Given the description of an element on the screen output the (x, y) to click on. 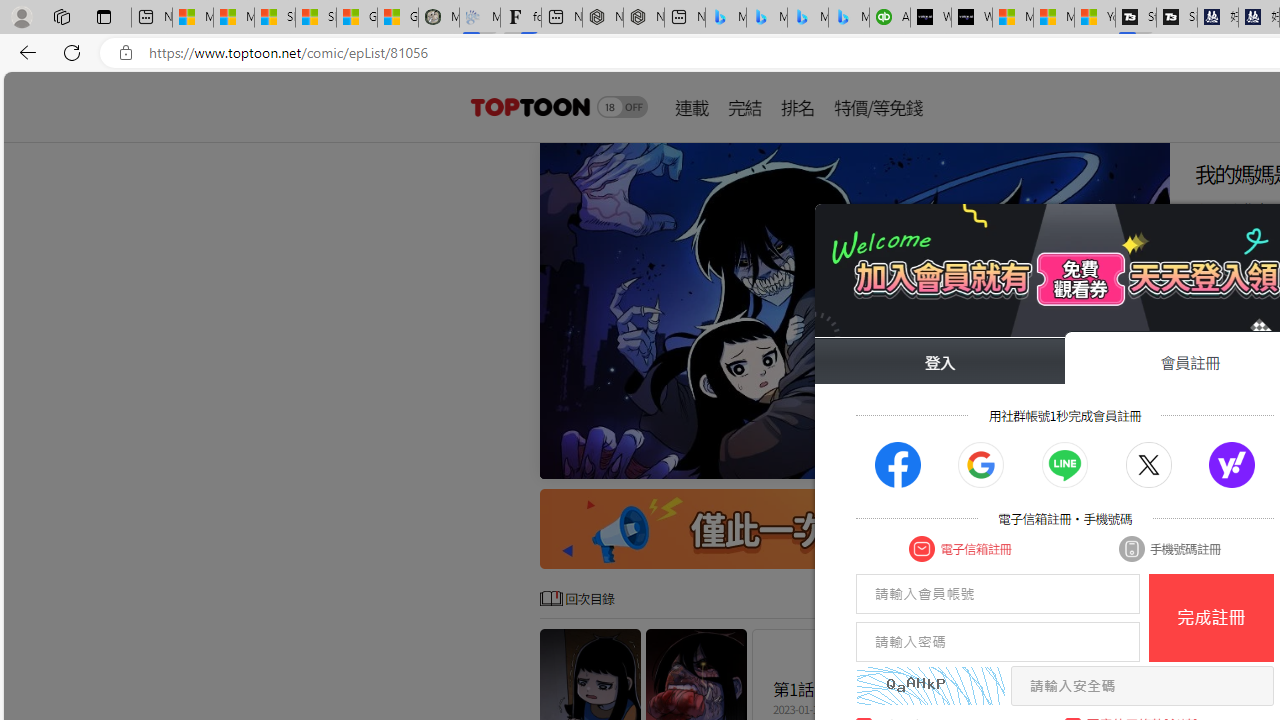
Go to slide 2 (1018, 461)
header (527, 106)
Accounting Software for Accountants, CPAs and Bookkeepers (890, 17)
